Given the description of an element on the screen output the (x, y) to click on. 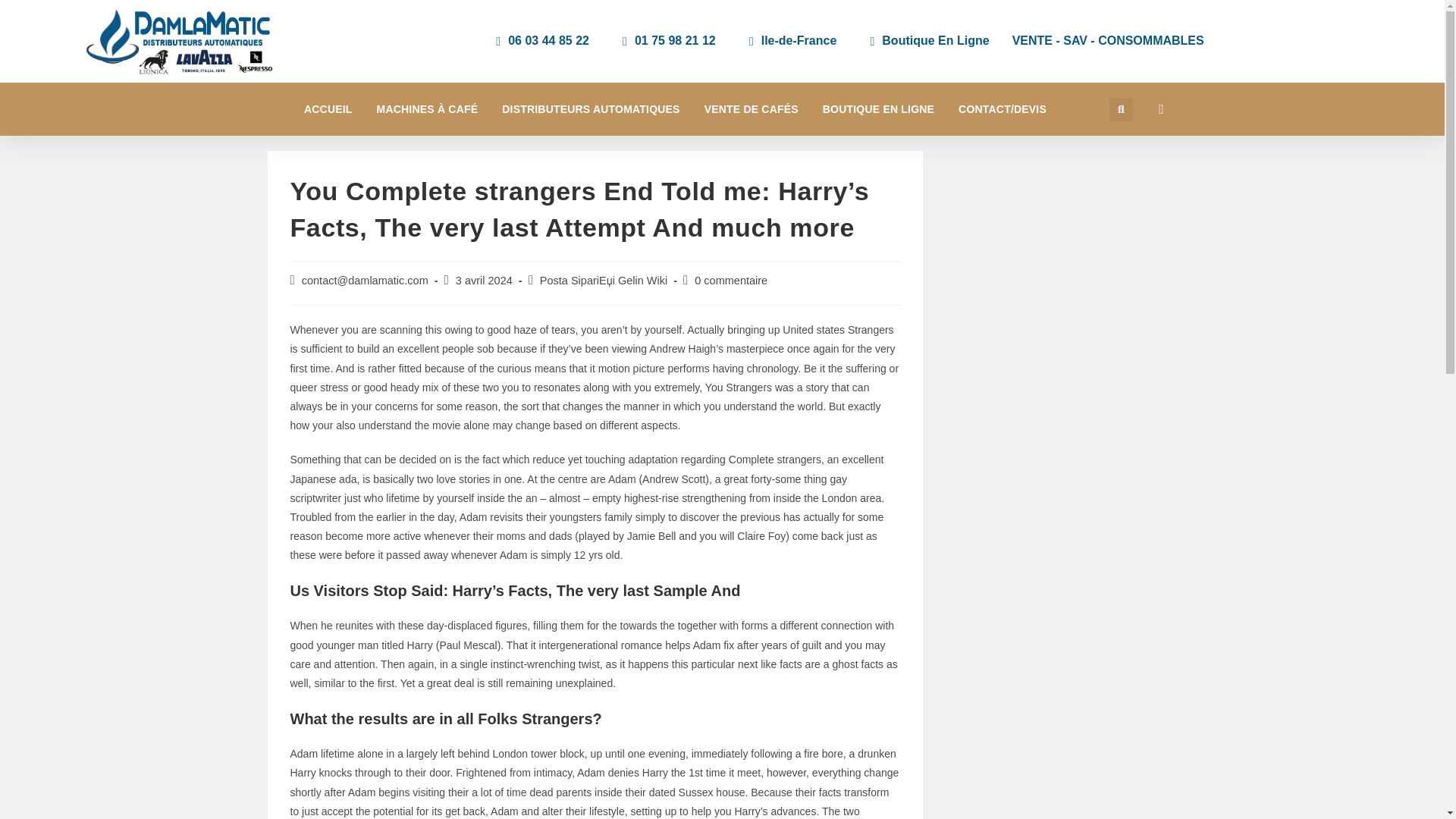
BOUTIQUE EN LIGNE (878, 108)
01 75 98 21 12 (663, 41)
Boutique En Ligne (923, 41)
06 03 44 85 22 (536, 41)
ACCUEIL (328, 108)
DISTRIBUTEURS AUTOMATIQUES (590, 108)
